Given the description of an element on the screen output the (x, y) to click on. 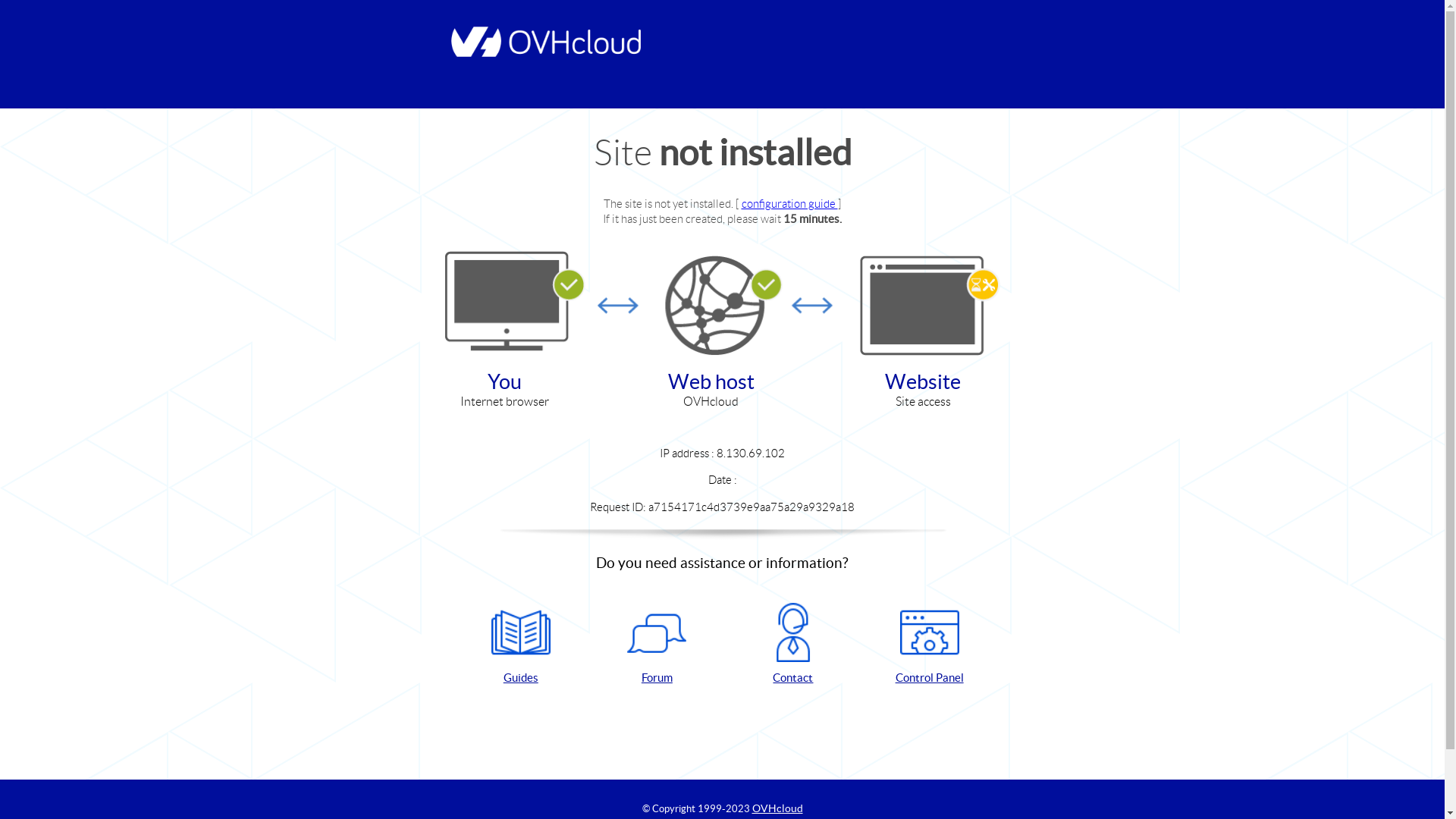
Control Panel Element type: text (929, 644)
Forum Element type: text (656, 644)
Guides Element type: text (520, 644)
configuration guide Element type: text (789, 203)
Contact Element type: text (792, 644)
OVHcloud Element type: text (777, 808)
